Given the description of an element on the screen output the (x, y) to click on. 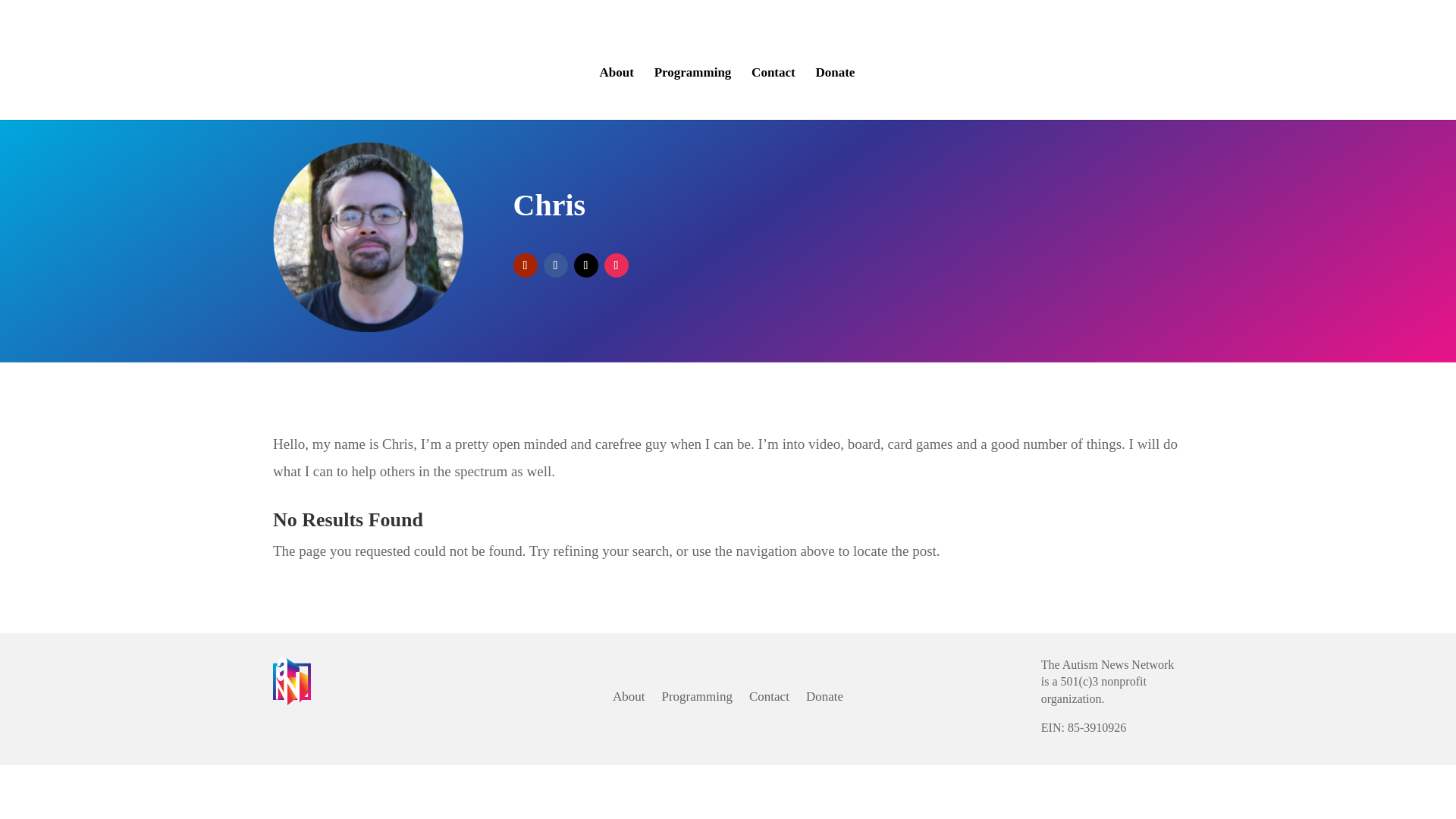
Contact (769, 699)
Follow on Facebook (555, 265)
Donate (824, 699)
Programming (696, 699)
Follow on Instagram (615, 265)
Follow on X (584, 265)
Donate (834, 79)
About (628, 699)
Contact (772, 79)
Follow on Youtube (524, 265)
About (616, 79)
Programming (692, 79)
